Given the description of an element on the screen output the (x, y) to click on. 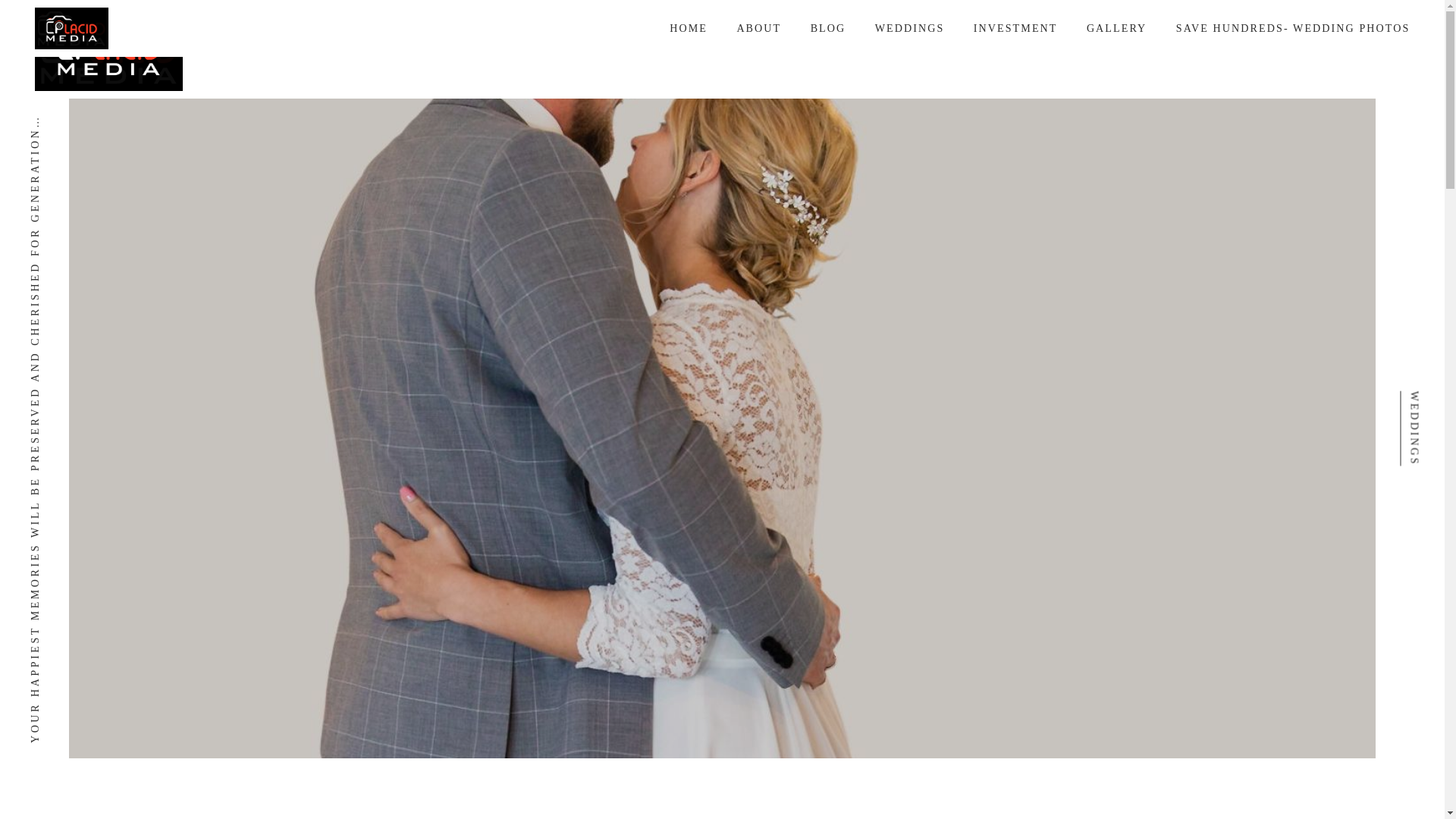
INVESTMENT (1015, 27)
HOME (688, 27)
BLOG (827, 27)
GALLERY (1116, 49)
INVESTMENT (1015, 49)
BLOG (827, 49)
GALLERY (1116, 27)
ABOUT (758, 49)
SAVE HUNDREDS- WEDDING PHOTOS (1293, 49)
ABOUT (758, 27)
WEDDINGS (909, 27)
HOME (688, 49)
WEDDINGS (909, 49)
SAVE HUNDREDS- WEDDING PHOTOS (1293, 27)
